Given the description of an element on the screen output the (x, y) to click on. 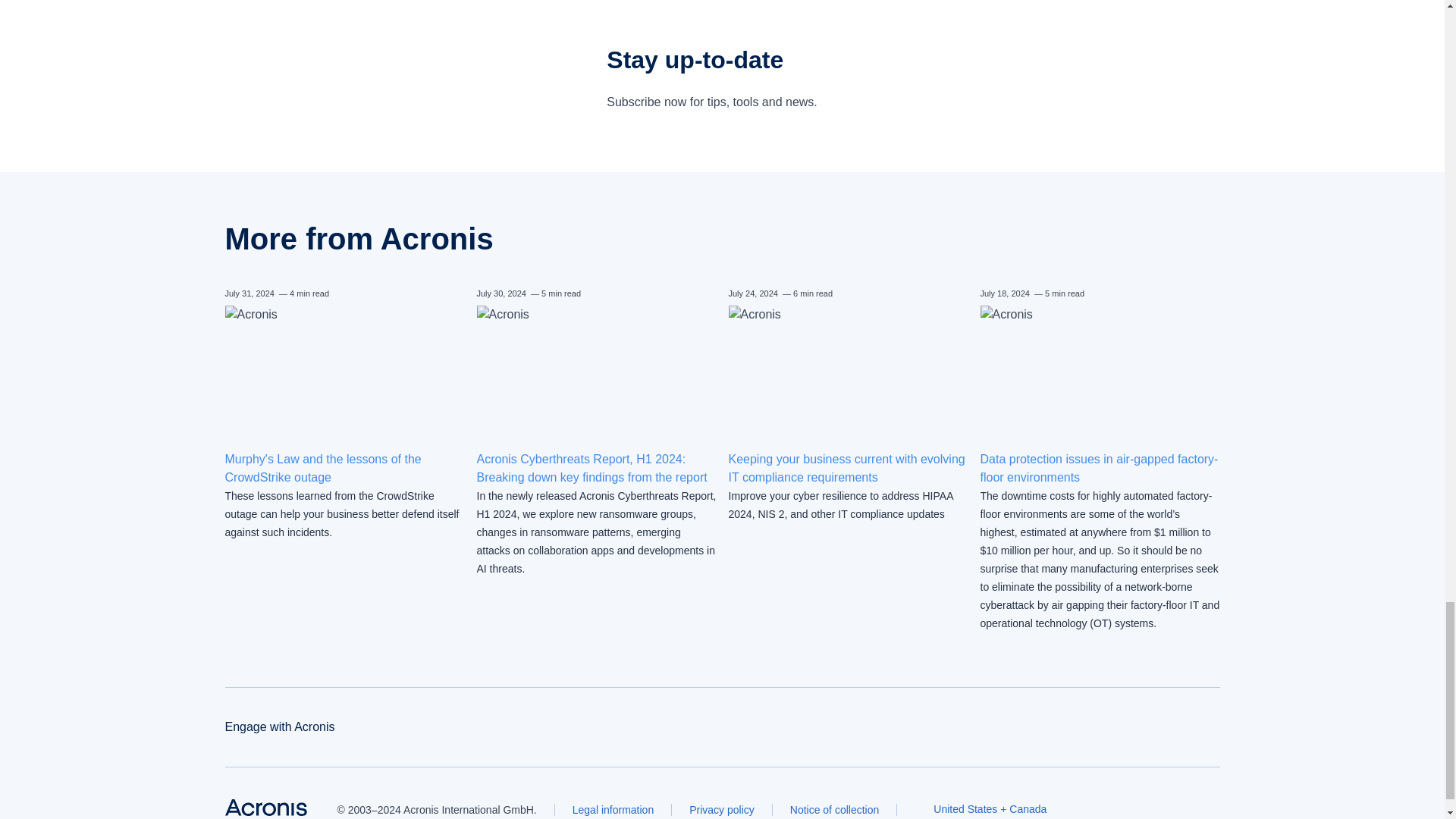
Acronis (264, 807)
